Given the description of an element on the screen output the (x, y) to click on. 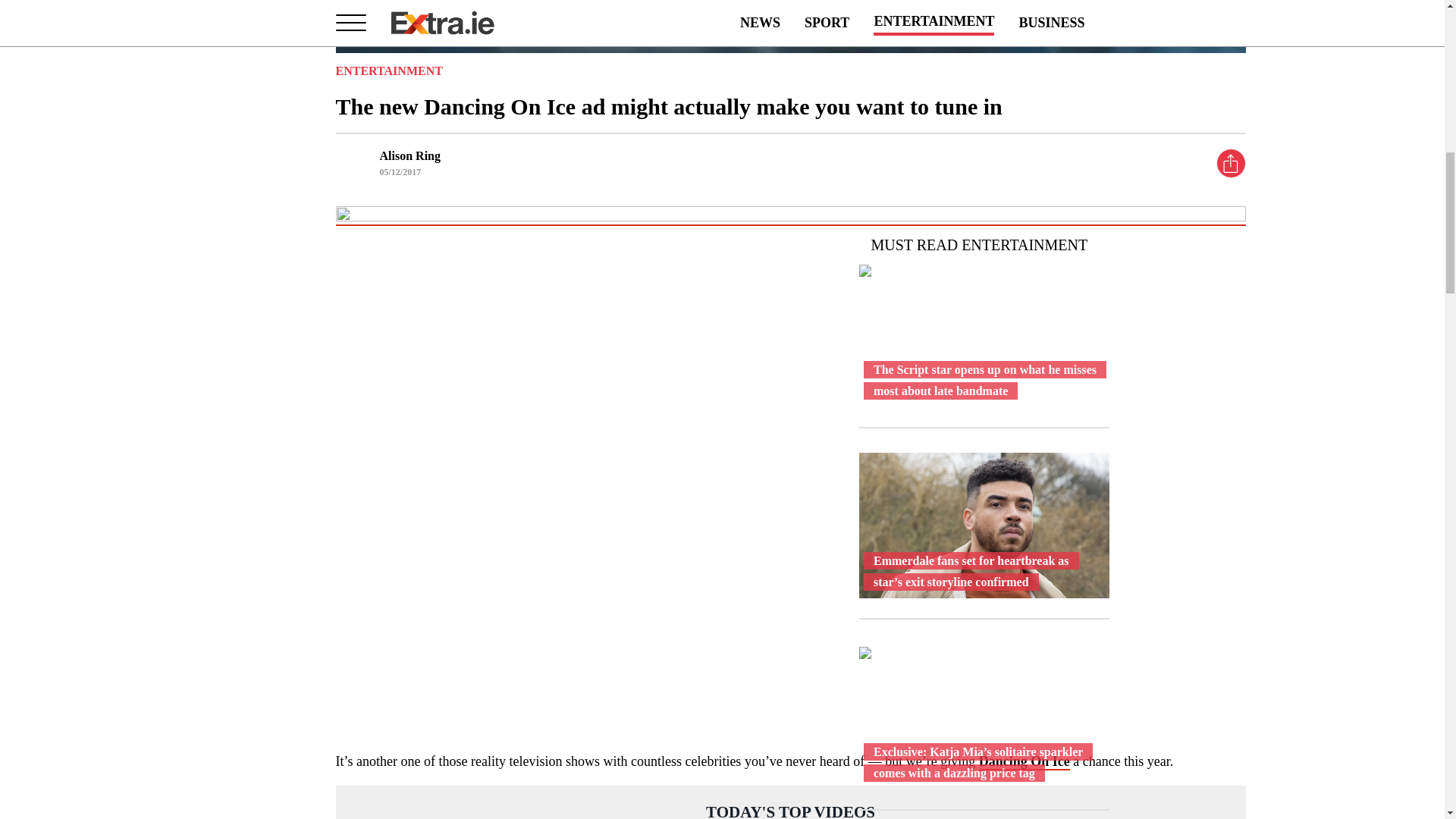
ENTERTAINMENT (388, 70)
Dancing On Ice (1024, 761)
Alison Ring (408, 155)
